Given the description of an element on the screen output the (x, y) to click on. 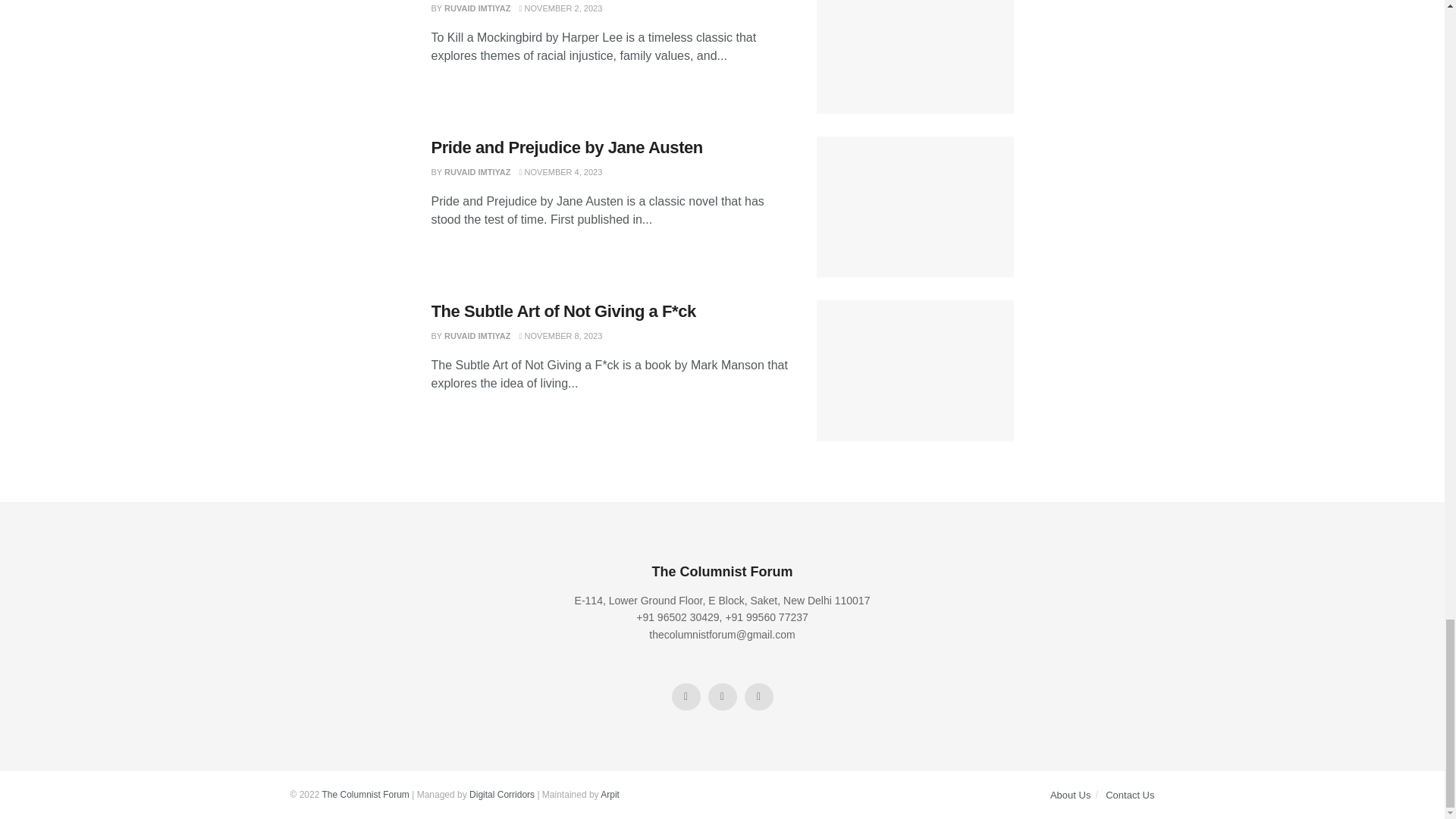
Digital Corridors (501, 794)
Developed by Arpit (609, 794)
The Columnist Forum (365, 794)
